Given the description of an element on the screen output the (x, y) to click on. 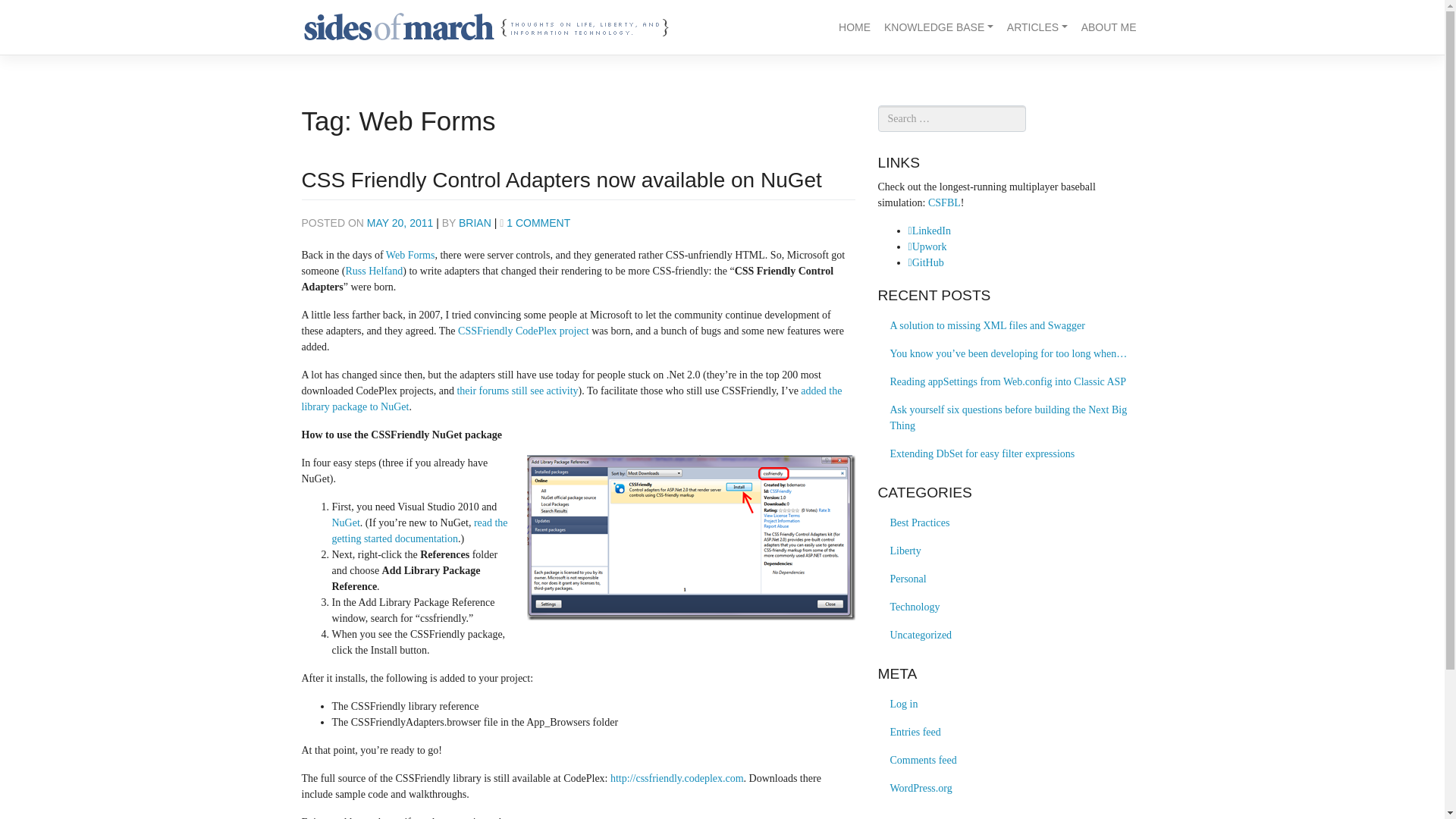
Reading appSettings from Web.config into Classic ASP (1009, 381)
A solution to missing XML files and Swagger (1009, 325)
Russ Helfand (374, 270)
Upwork (927, 246)
CSSFriendly CodePlex project (523, 330)
their forums still see activity (517, 390)
ABOUT ME (1108, 27)
MAY 20, 2011 (399, 223)
GitHub (925, 262)
Web Forms (410, 255)
About Me (1108, 27)
read the getting started documentation (419, 530)
Search (29, 12)
NuGet (345, 522)
